Given the description of an element on the screen output the (x, y) to click on. 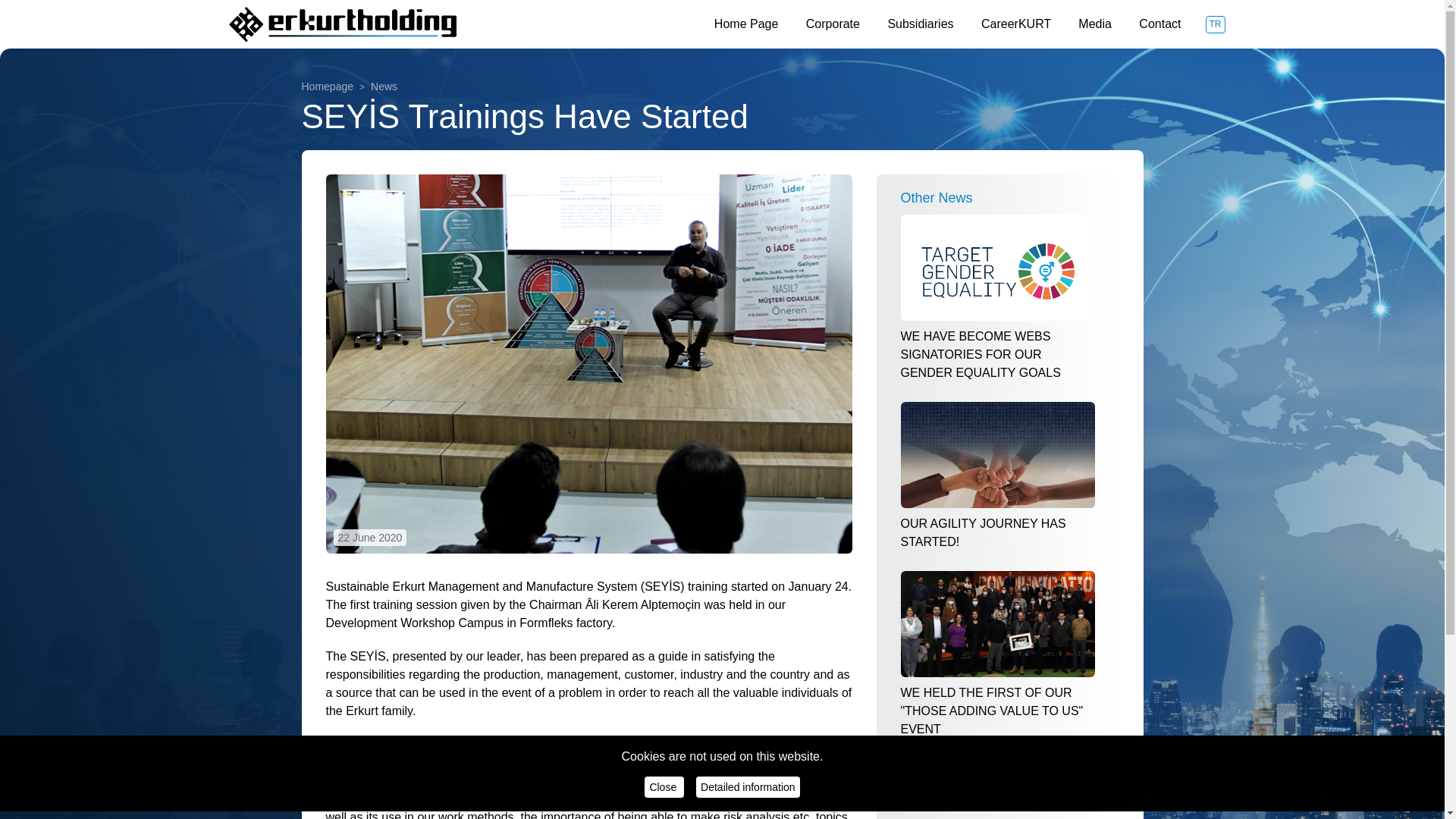
Homepage (327, 86)
News (375, 86)
Subsidiaries (921, 23)
OUR AGILITY JOURNEY HAS STARTED! (997, 476)
Close (664, 786)
Home Page (747, 23)
TR (1215, 23)
CareerKURT (1017, 23)
WE HELD THE FIRST OF OUR "THOSE ADDING VALUE TO US" EVENT (997, 654)
Corporate (834, 23)
Media (1096, 23)
Contact (1159, 23)
Detailed information (747, 786)
